Given the description of an element on the screen output the (x, y) to click on. 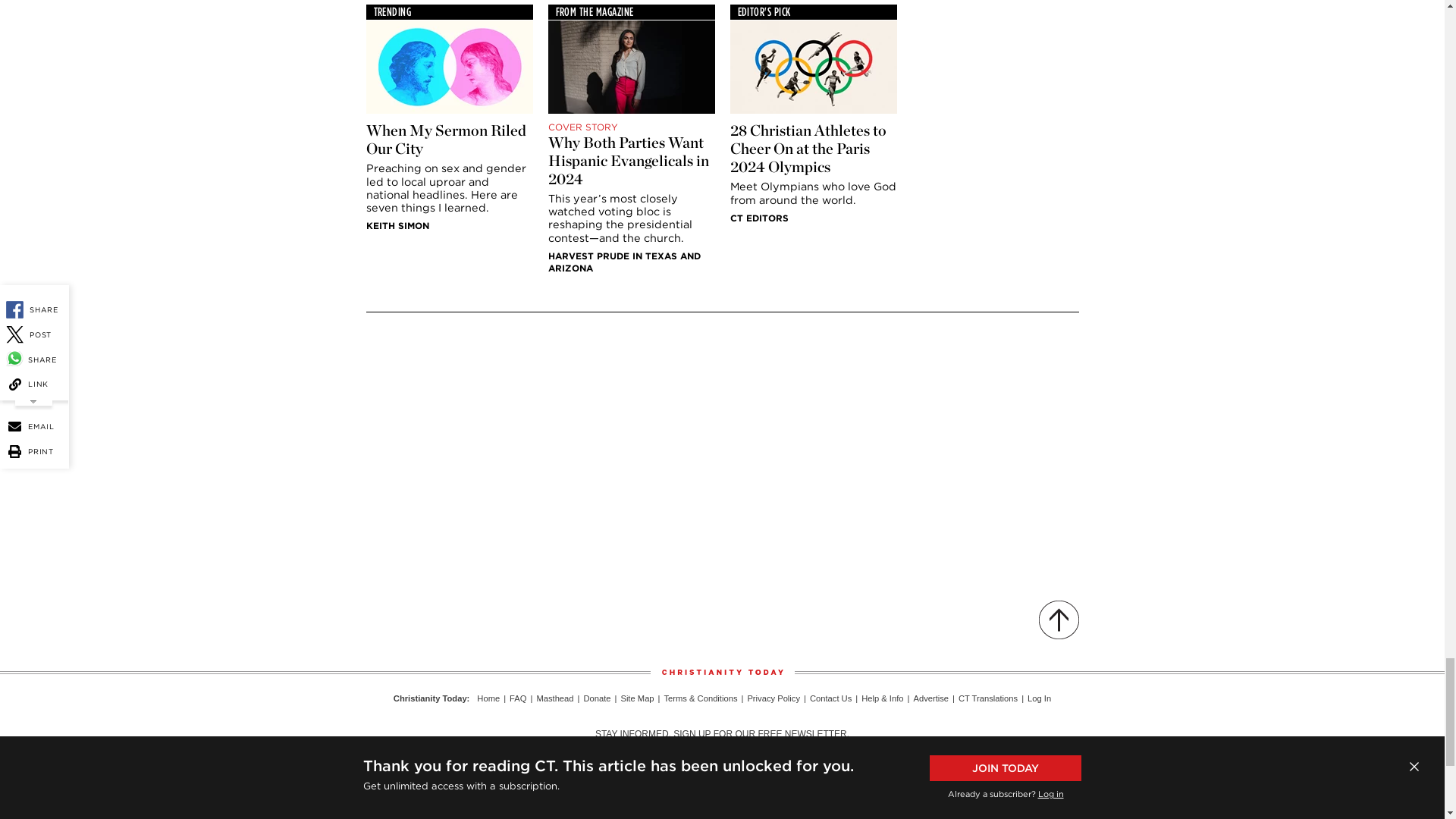
Sign Up (894, 762)
